Given the description of an element on the screen output the (x, y) to click on. 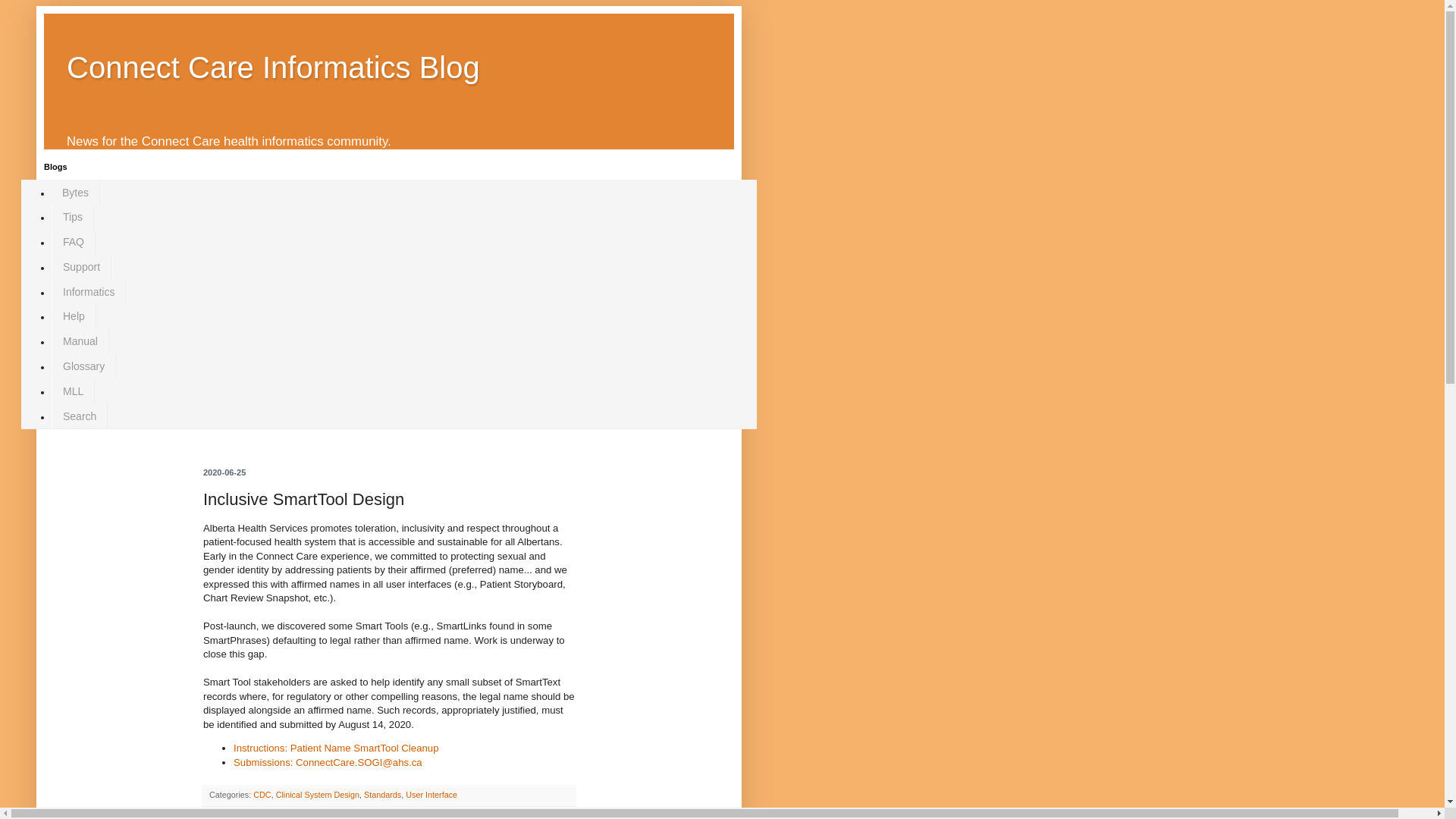
Tips (72, 217)
Informatics (87, 291)
Help (73, 316)
Clinical System Design (317, 794)
User Interface (431, 794)
Glossary (83, 366)
Support (81, 267)
Manual (79, 341)
Search (78, 415)
CDC (261, 794)
